Given the description of an element on the screen output the (x, y) to click on. 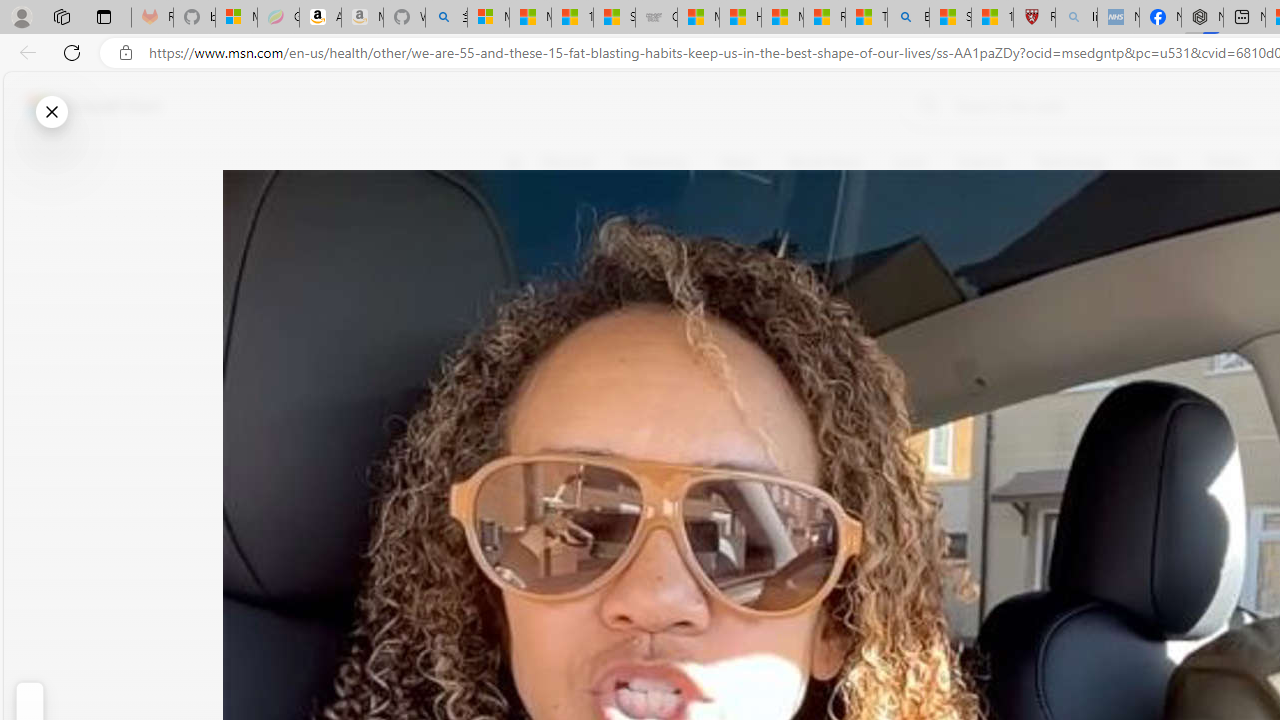
Robert H. Shmerling, MD - Harvard Health (1033, 17)
Crime (1156, 162)
Politics (1228, 162)
Following (656, 162)
Class: button-glyph (513, 162)
How I Got Rid of Microsoft Edge's Unnecessary Features (740, 17)
Politics (1227, 162)
